Given the description of an element on the screen output the (x, y) to click on. 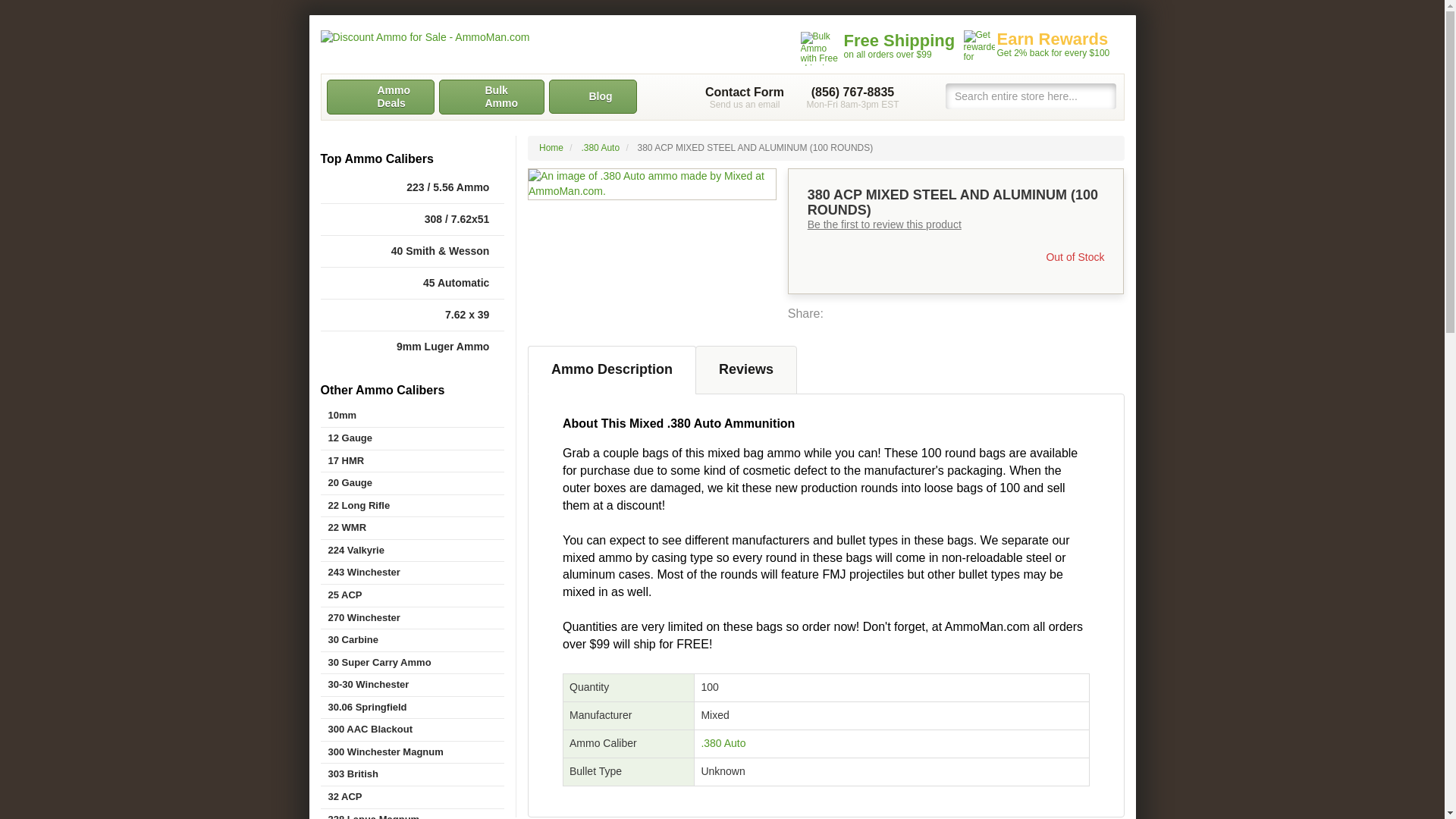
.380 Auto (600, 147)
22 Long Rifle (411, 505)
243 Winchester (411, 572)
Ammo rewards program (1038, 45)
224 Valkyrie (411, 550)
Bulk Ammo (490, 96)
30 Carbine (411, 640)
Ammo Description (611, 369)
45 Automatic Ammo (411, 282)
Bulk Ammo (490, 96)
